Given the description of an element on the screen output the (x, y) to click on. 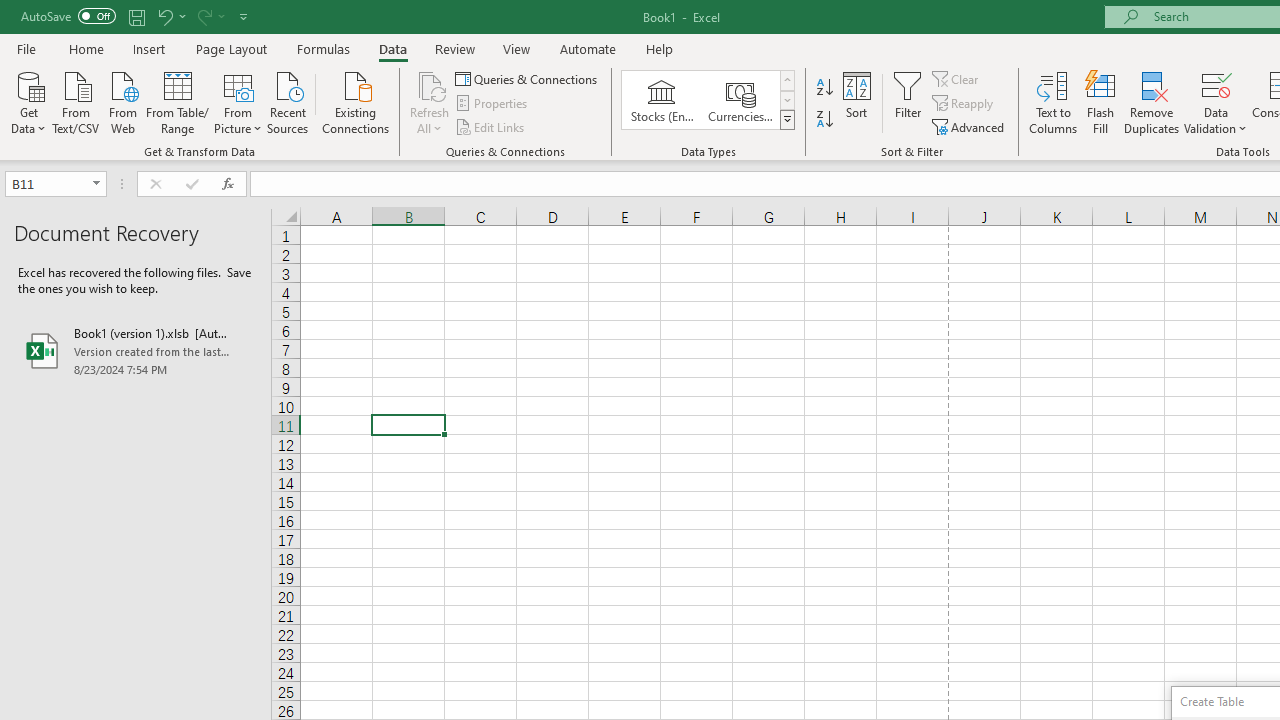
Class: NetUIImage (787, 119)
File Tab (26, 48)
Home (86, 48)
Remove Duplicates (1151, 102)
Sort... (856, 102)
Get Data (28, 101)
From Text/CSV (75, 101)
Data (392, 48)
Stocks (English) (662, 100)
From Web (122, 101)
